Given the description of an element on the screen output the (x, y) to click on. 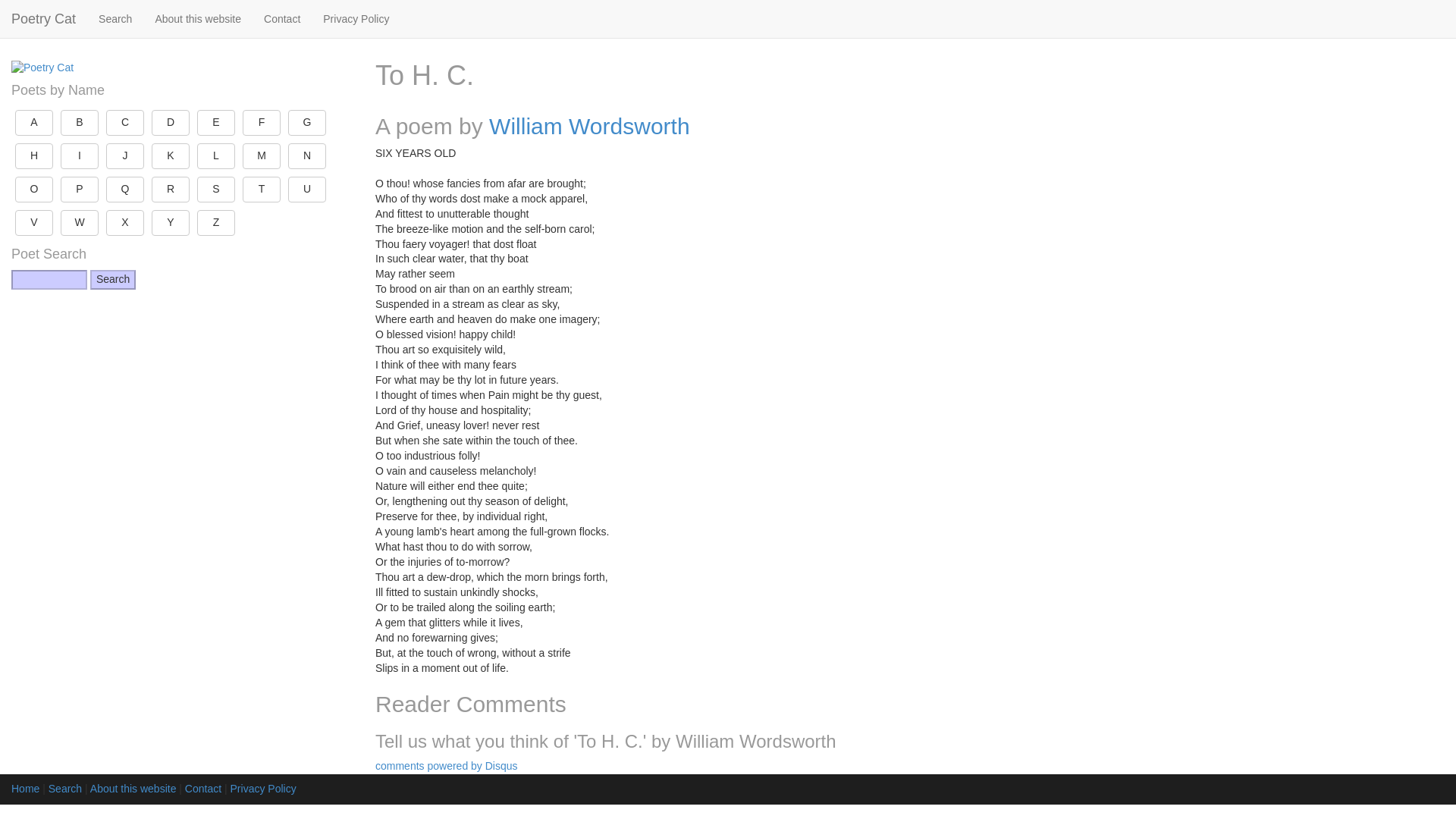
O (33, 189)
G (307, 122)
V (33, 222)
D (170, 122)
L (215, 155)
X (125, 222)
Z (215, 222)
C (125, 122)
B (80, 122)
Privacy Policy (355, 18)
